Given the description of an element on the screen output the (x, y) to click on. 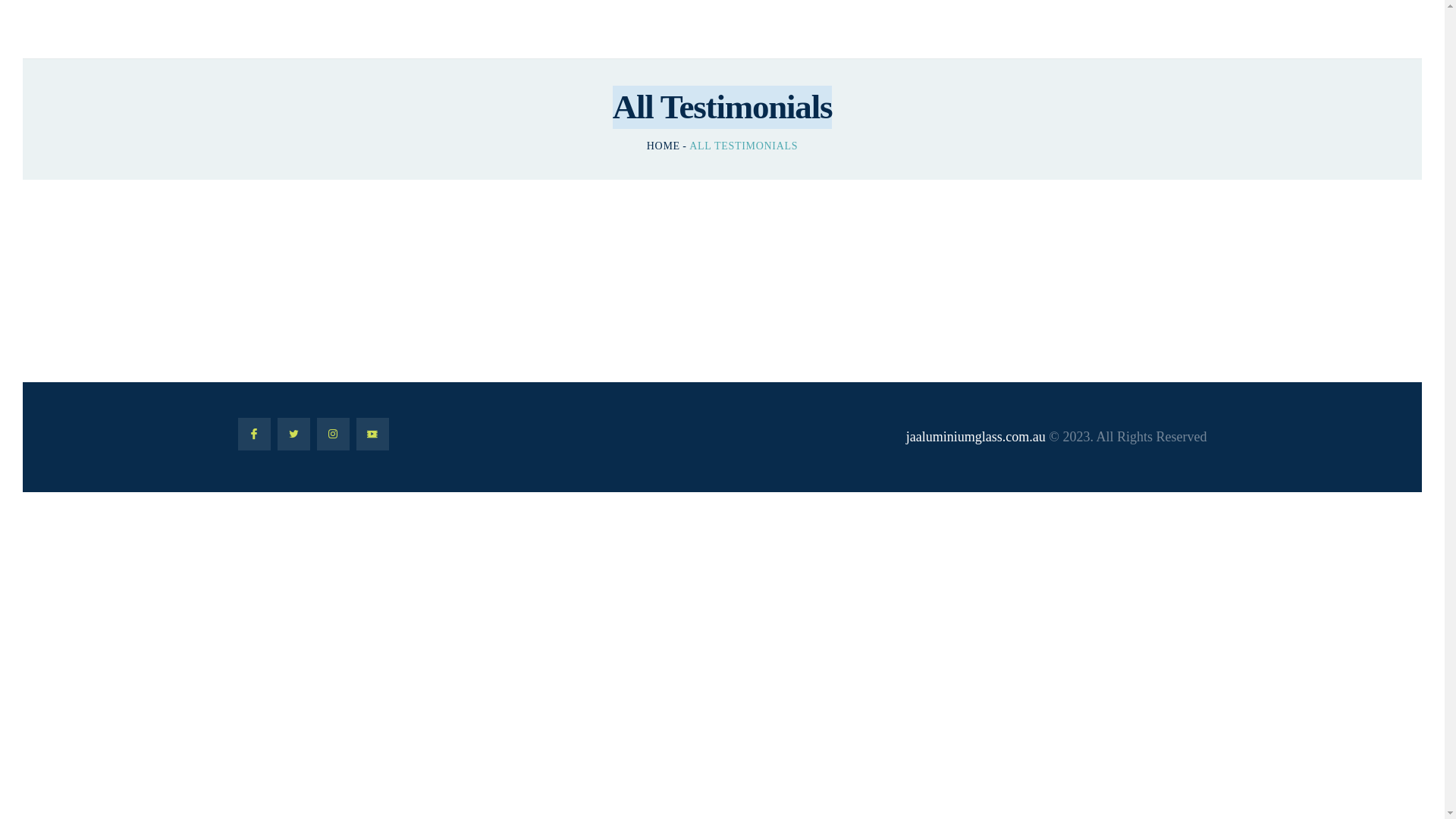
HOME Element type: text (663, 145)
jaaluminiumglass.com.au Element type: text (975, 436)
